Given the description of an element on the screen output the (x, y) to click on. 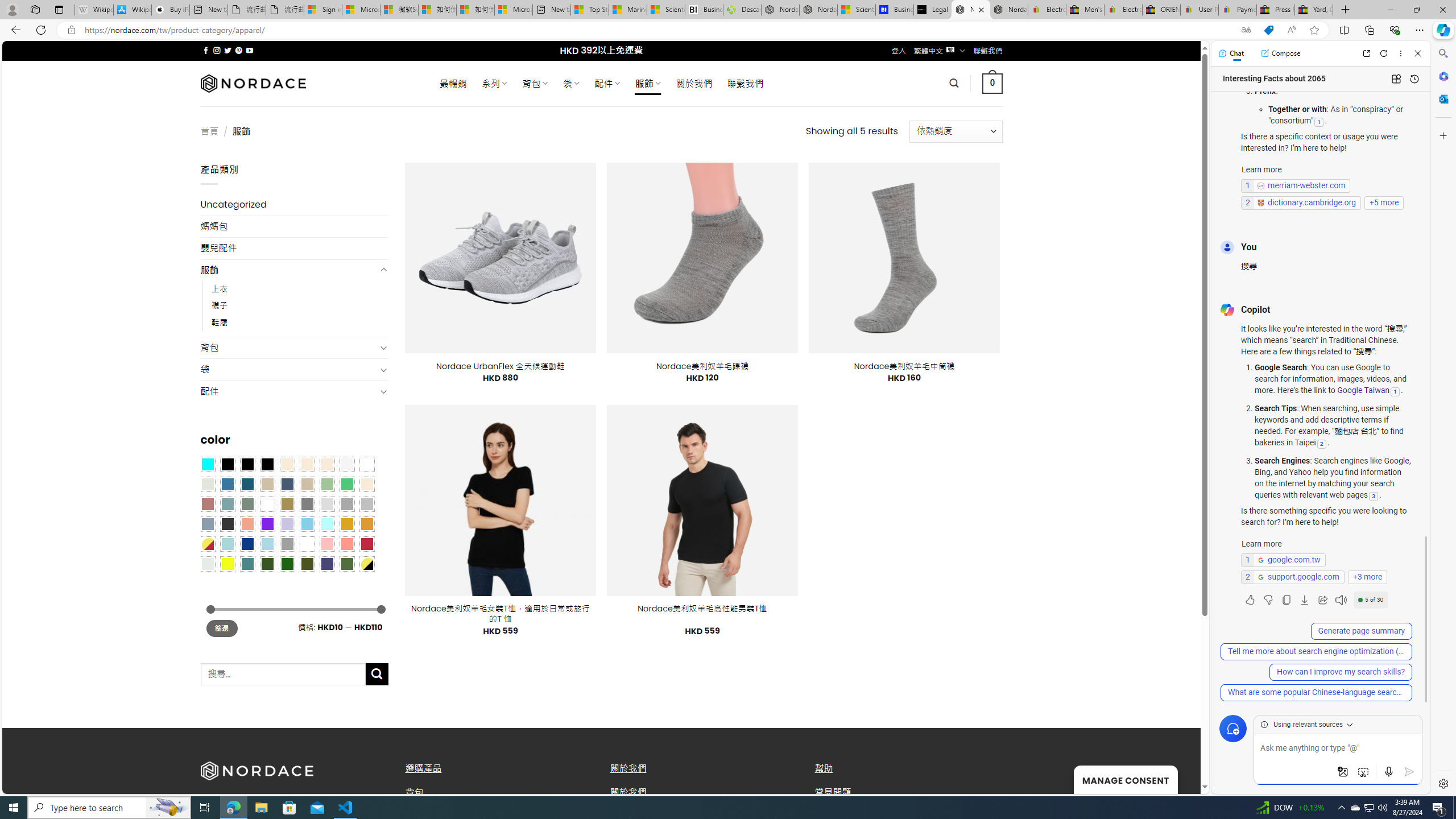
Uncategorized (294, 204)
Dull Nickle (207, 563)
